Given the description of an element on the screen output the (x, y) to click on. 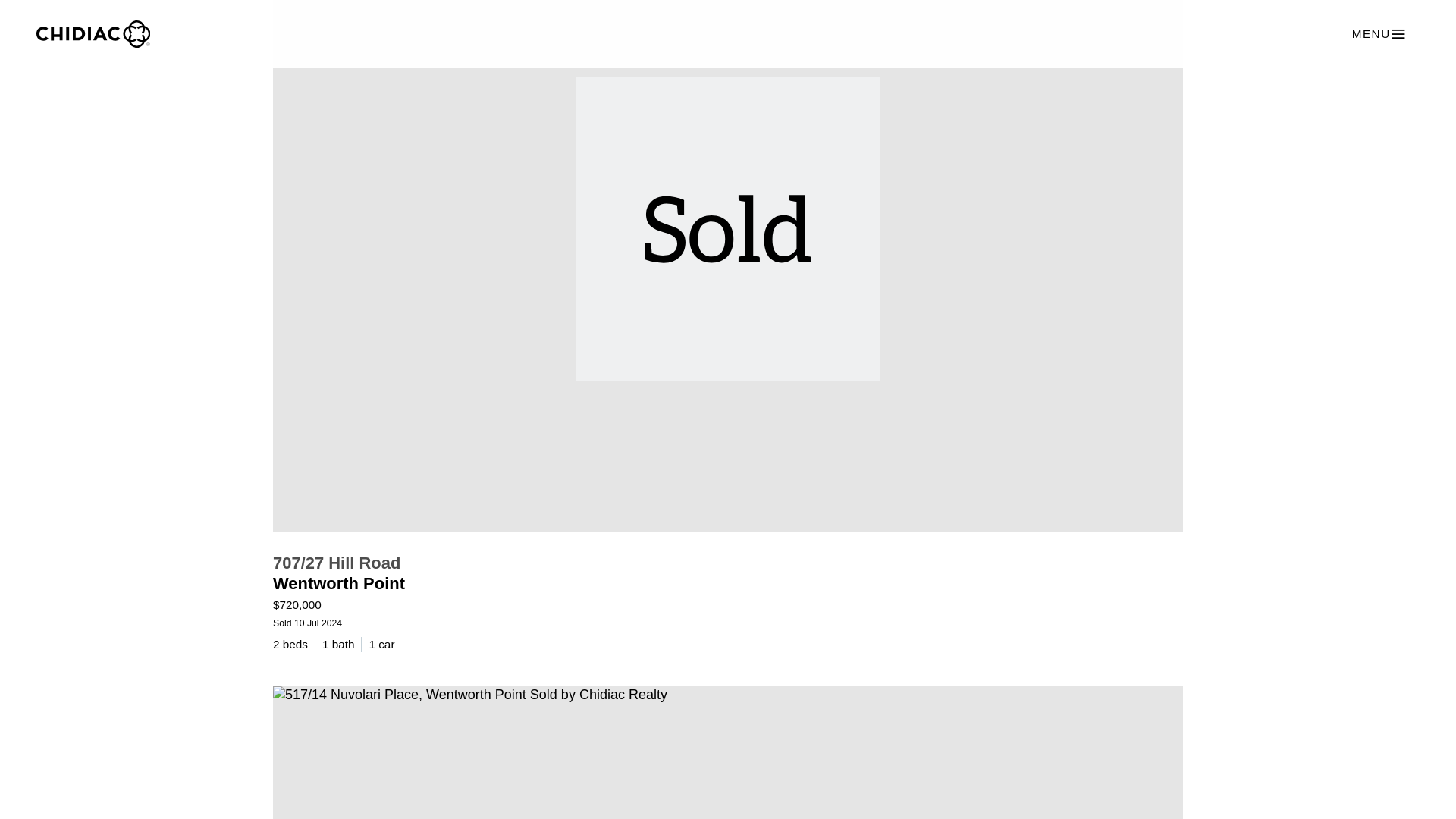
SOLD (727, 752)
